Given the description of an element on the screen output the (x, y) to click on. 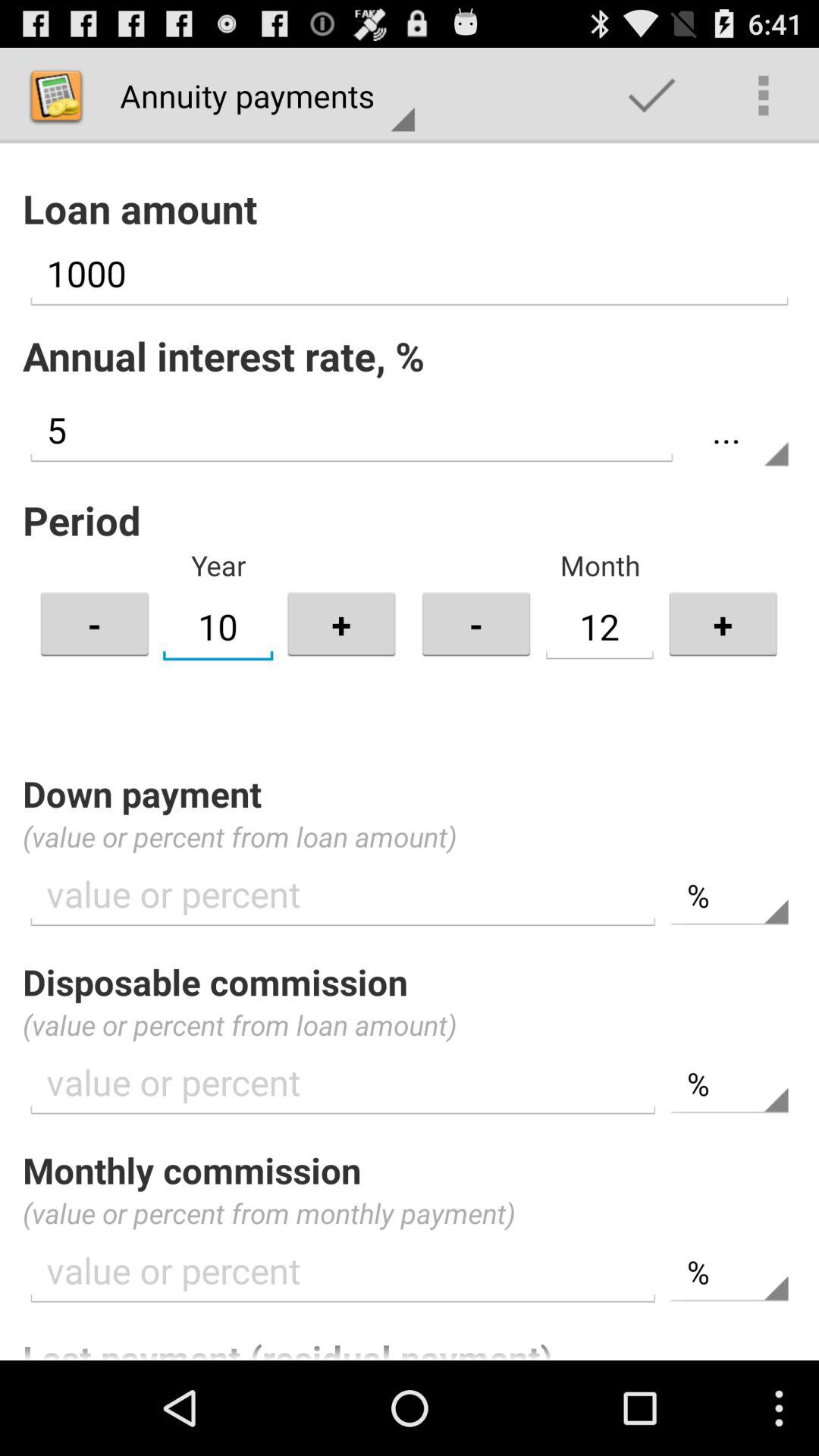
click on the button left to year text field (94, 623)
click on the button next to annuity payments (651, 95)
click on the text filed under annual interest rate  (351, 430)
click on the second text field under monthly commission (729, 1272)
select the text field in down payment (342, 894)
